Given the description of an element on the screen output the (x, y) to click on. 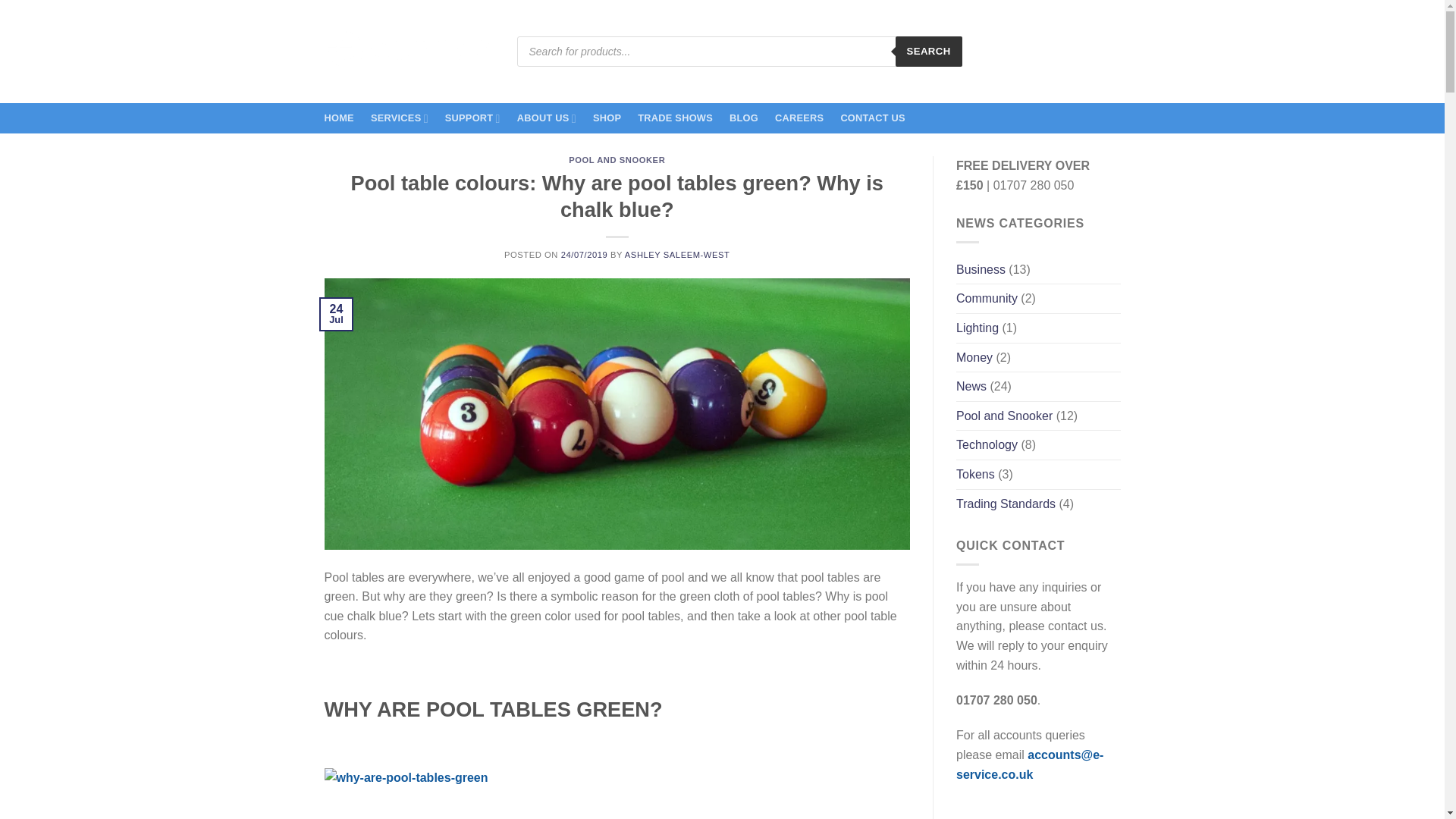
SUPPORT (472, 118)
Basket (1067, 51)
BLOG (743, 118)
TRADE SHOWS (675, 118)
SEARCH (928, 51)
CAREERS (799, 118)
CONTACT US (872, 118)
SHOP (606, 118)
Login (978, 51)
POOL AND SNOOKER (617, 159)
